Given the description of an element on the screen output the (x, y) to click on. 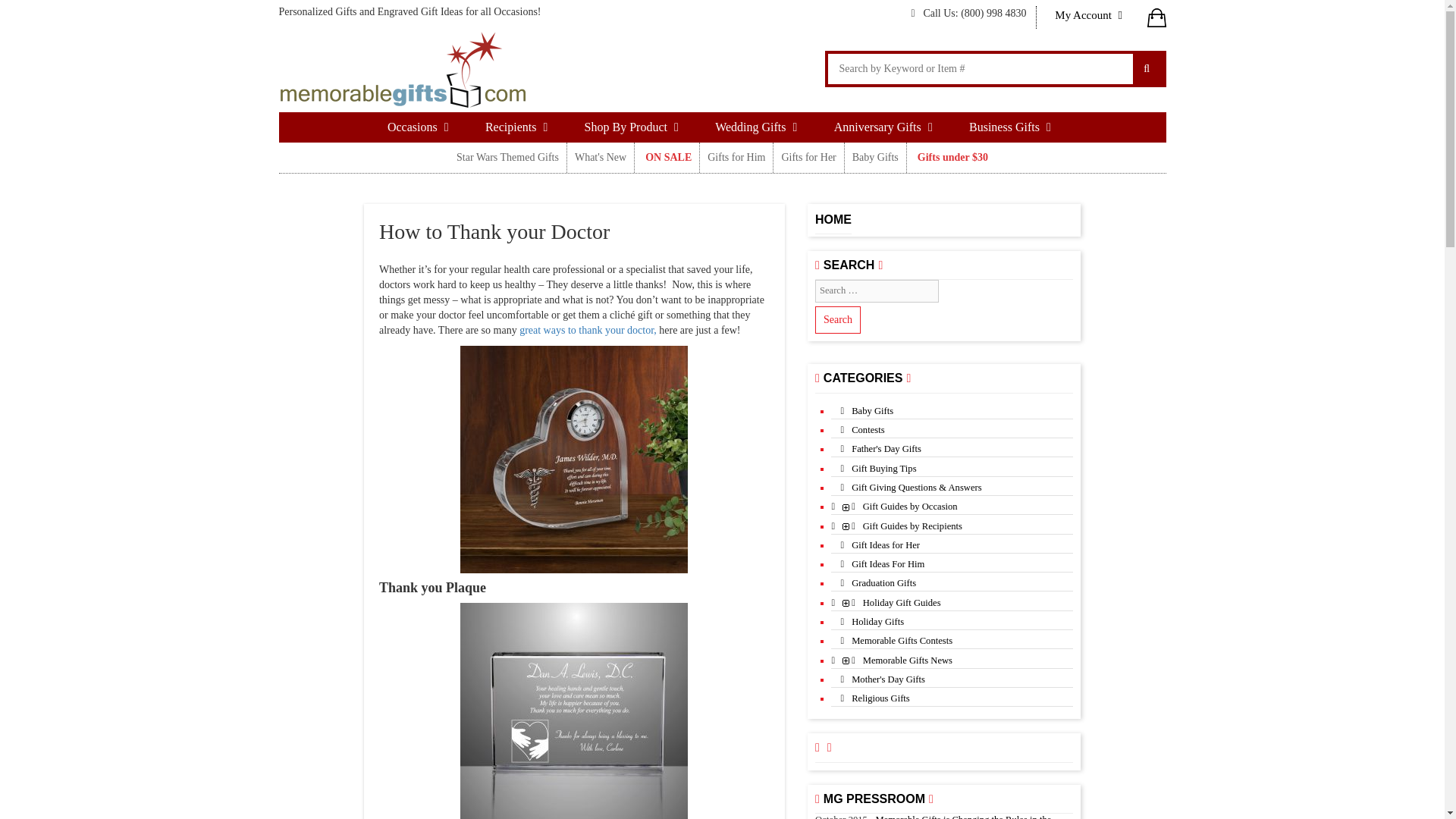
Gifts for Him (736, 157)
Search (837, 319)
Baby Gifts (874, 157)
Search (837, 319)
New Gifts (600, 157)
Occasions (421, 127)
Gifts for Her (808, 157)
Recipients (519, 127)
ON SALE (666, 157)
Star Wars Themed Gifts (507, 157)
